Given the description of an element on the screen output the (x, y) to click on. 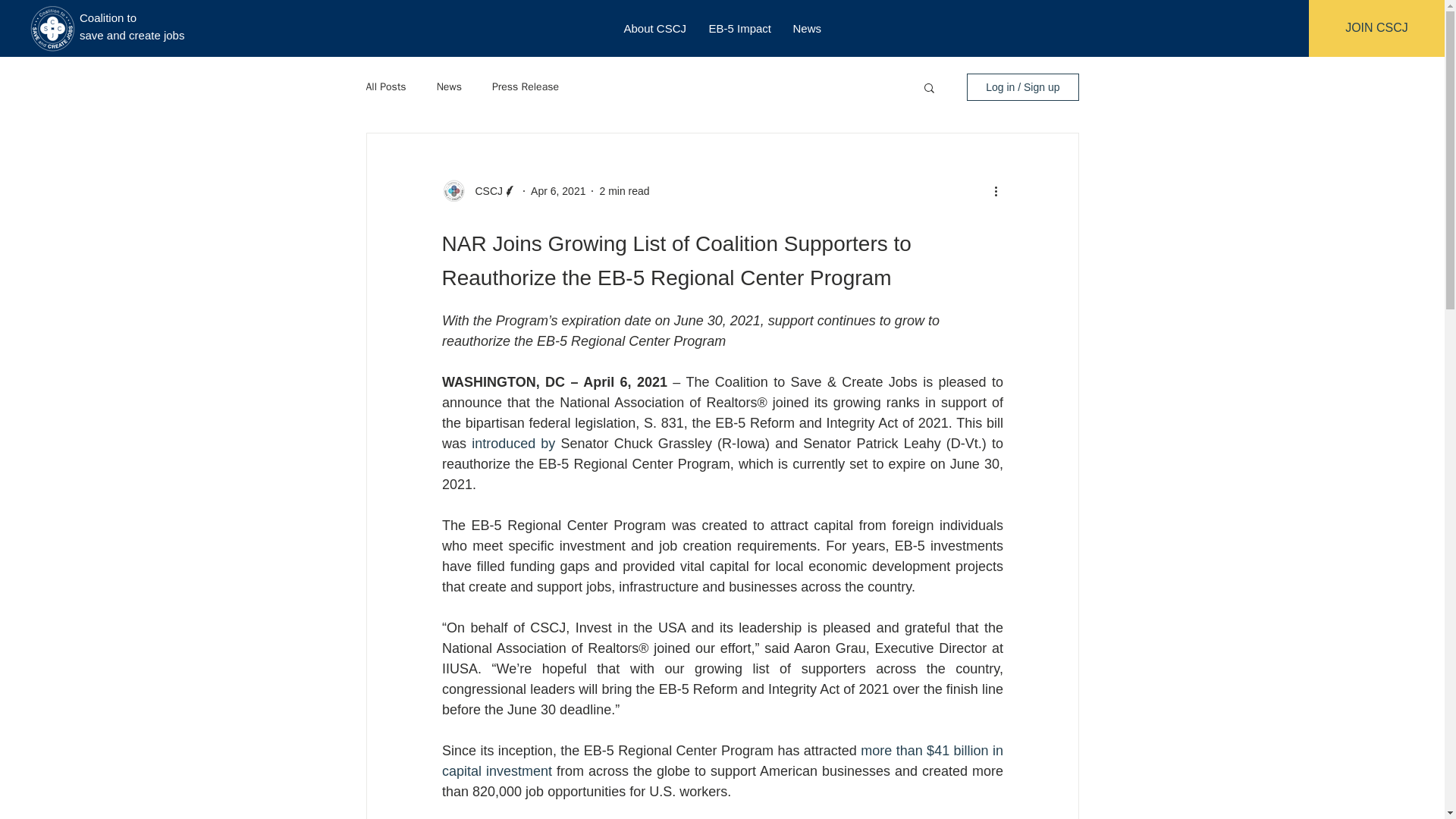
Apr 6, 2021 (558, 191)
save and create jobs (132, 34)
Coalition to (108, 17)
introduced by (512, 443)
News (448, 87)
EB-5 Impact (739, 28)
2 min read (623, 191)
CSCJ (483, 191)
All Posts (385, 87)
Press Release (525, 87)
